Given the description of an element on the screen output the (x, y) to click on. 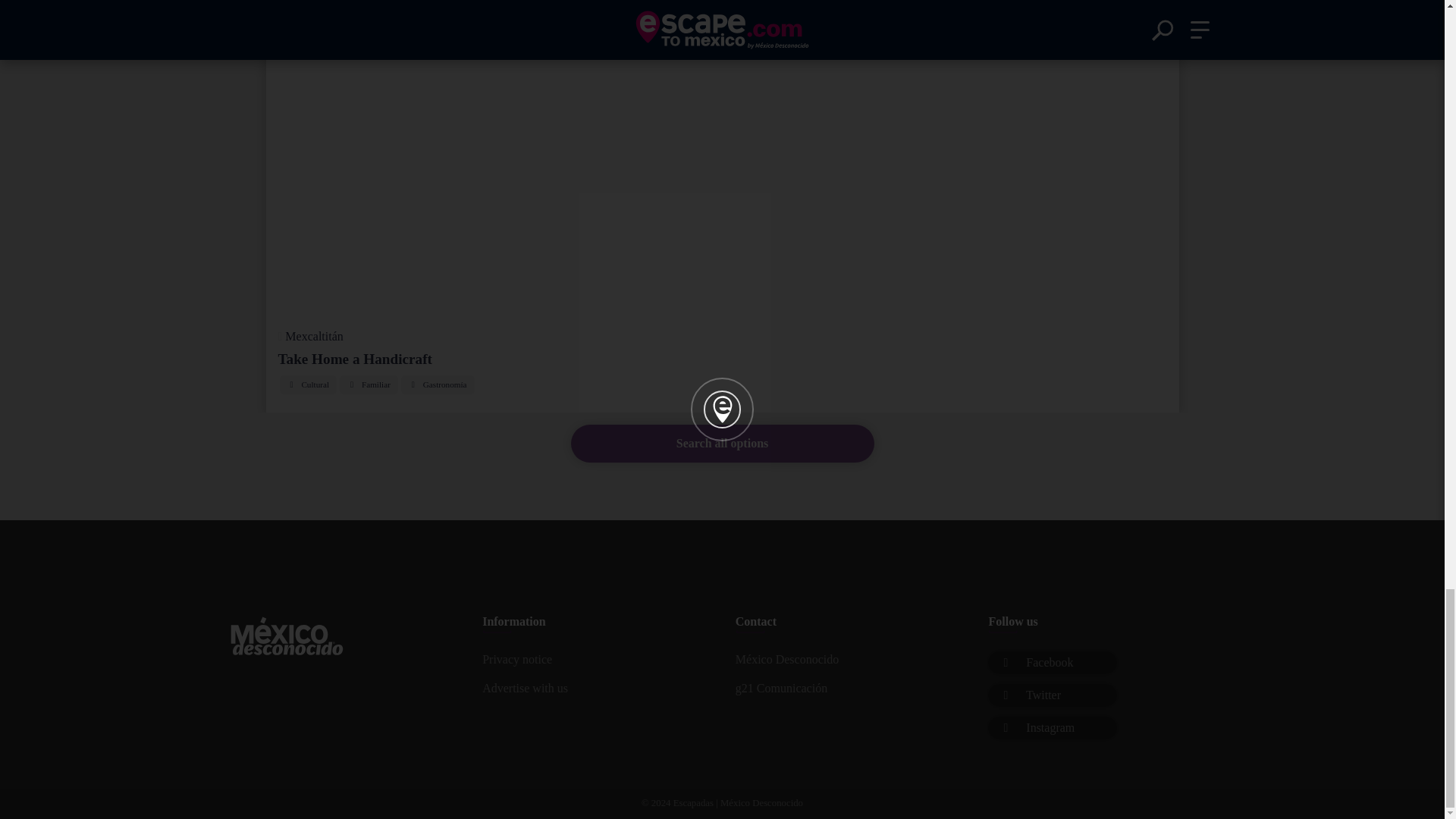
Privacy notice (595, 659)
Search all options (721, 443)
Twitter (1052, 694)
Facebook (1052, 662)
Advertise with us (595, 687)
Instagram (1052, 727)
